Given the description of an element on the screen output the (x, y) to click on. 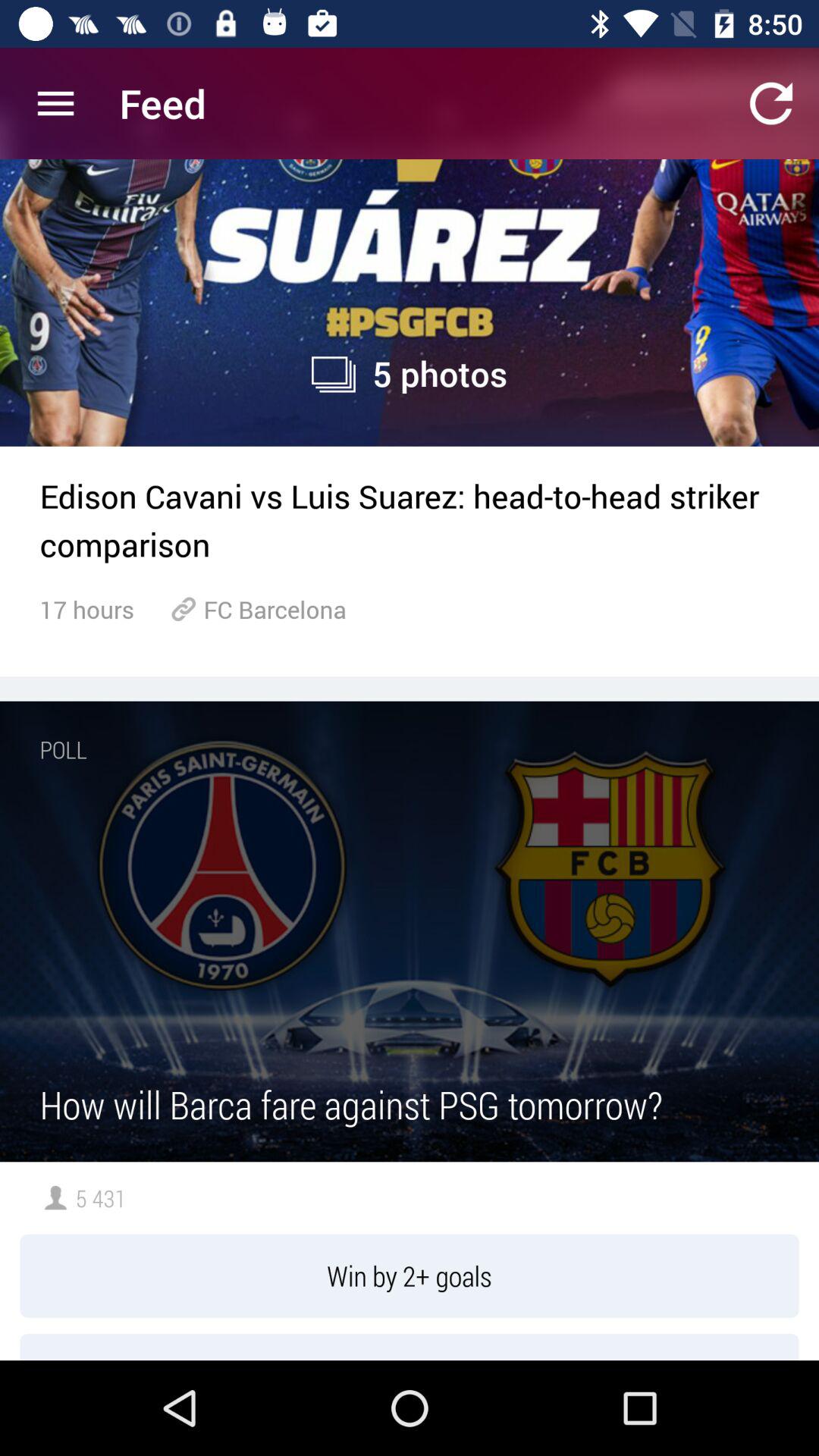
select the refresh icon on top right corner (771, 103)
click on the profile  image option in front of 5431 numbers (56, 1198)
